Given the description of an element on the screen output the (x, y) to click on. 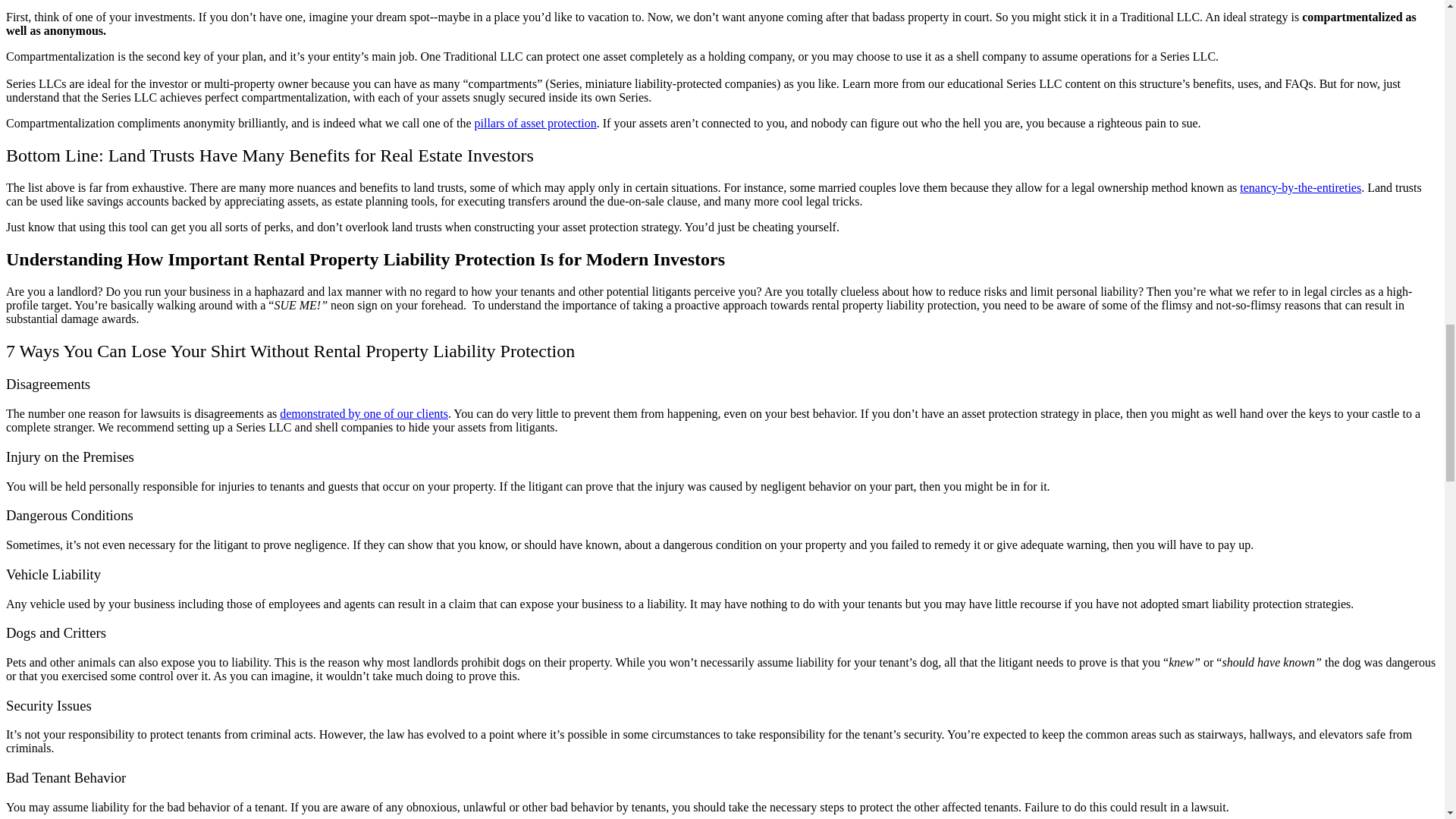
demonstrated by one of our clients (363, 413)
tenancy-by-the-entireties (1300, 187)
pillars of asset protection (534, 123)
